Given the description of an element on the screen output the (x, y) to click on. 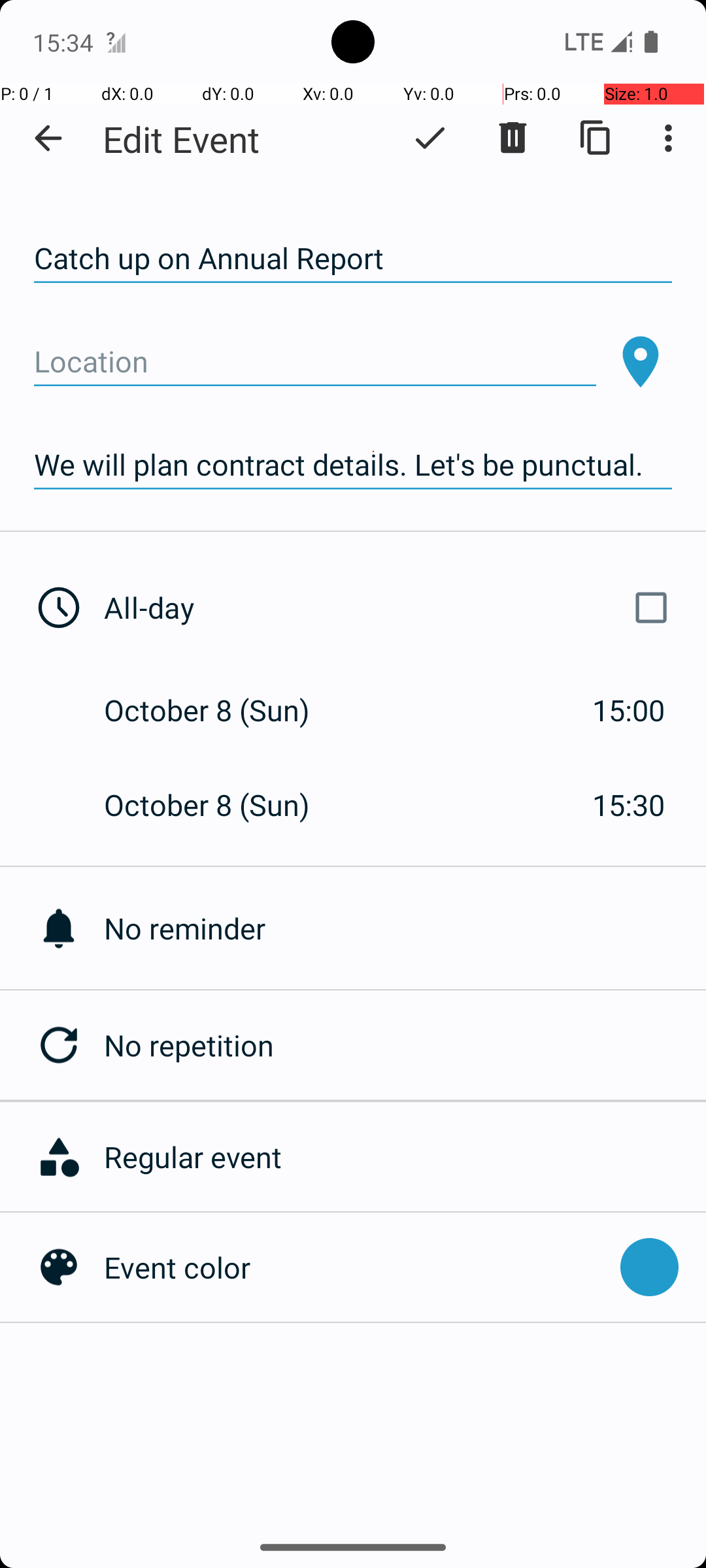
We will plan contract details. Let's be punctual. Element type: android.widget.EditText (352, 465)
October 8 (Sun) Element type: android.widget.TextView (220, 709)
15:00 Element type: android.widget.TextView (628, 709)
15:30 Element type: android.widget.TextView (628, 804)
